Given the description of an element on the screen output the (x, y) to click on. 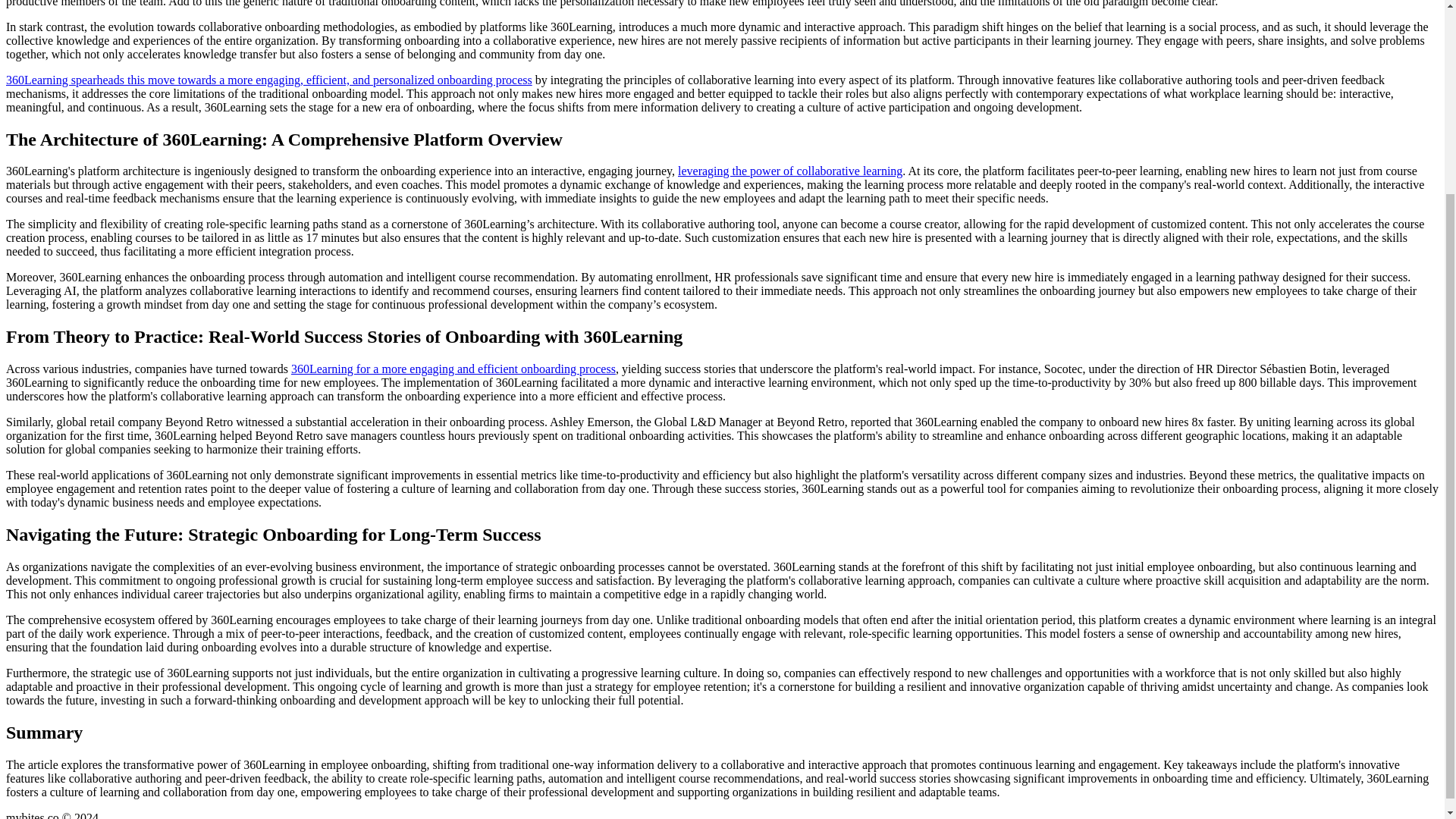
leveraging the power of collaborative learning (790, 170)
